Given the description of an element on the screen output the (x, y) to click on. 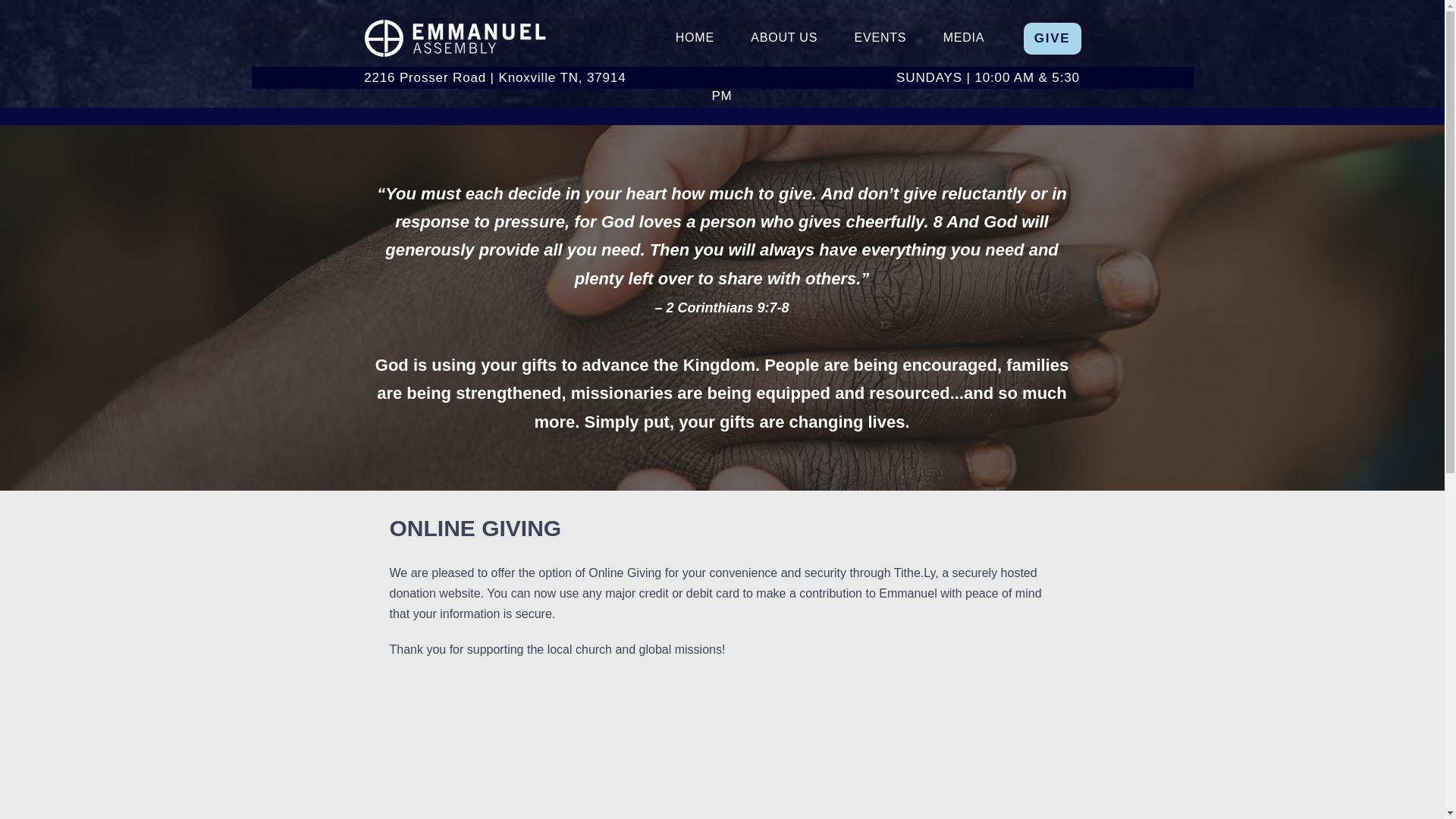
EVENTS (879, 38)
GIVE (829, 38)
HOME (1052, 38)
ABOUT US (694, 38)
